Given the description of an element on the screen output the (x, y) to click on. 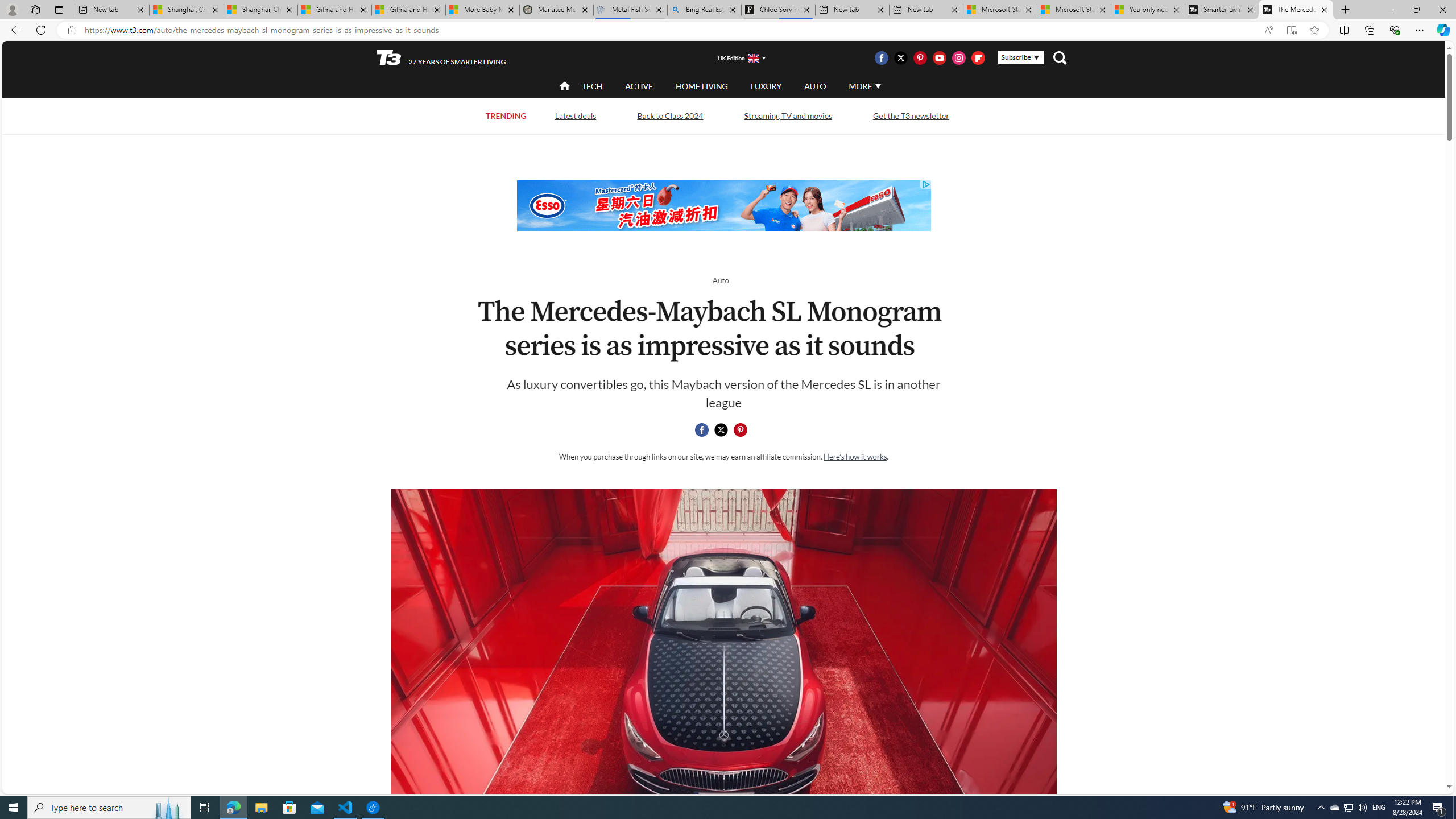
Subscribe (1020, 56)
Manatee Mortality Statistics | FWC (556, 9)
TECH (591, 86)
Class: navigation__search (1059, 57)
ACTIVE (638, 86)
MORE  (863, 86)
Class: svg-arrow-down (877, 86)
Smarter Living | T3 (1221, 9)
TECH (591, 85)
Share this page on Twitter (720, 430)
